Given the description of an element on the screen output the (x, y) to click on. 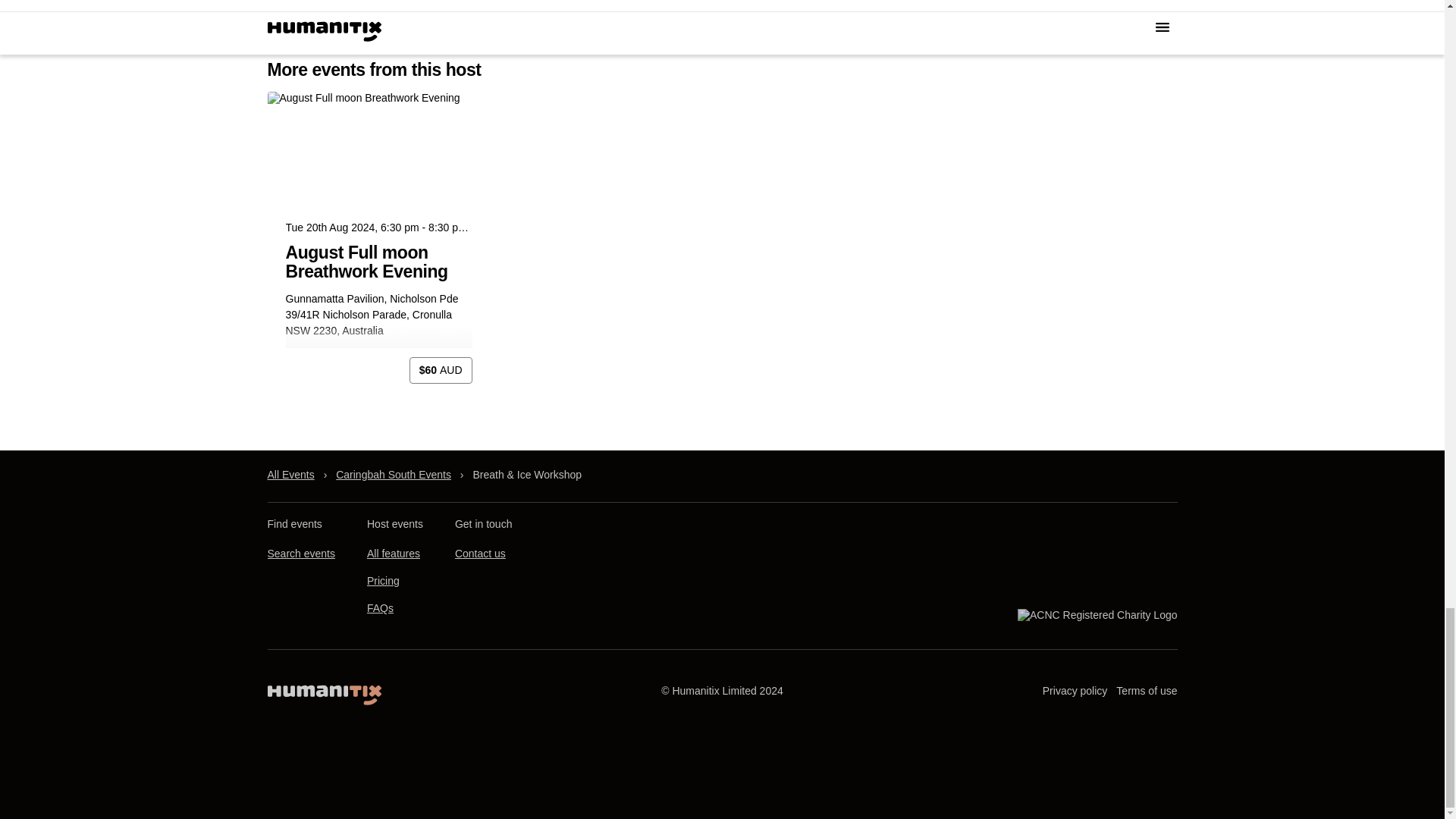
All Events (290, 474)
Caringbah South Events (393, 474)
Search events (300, 553)
All features (393, 553)
